Given the description of an element on the screen output the (x, y) to click on. 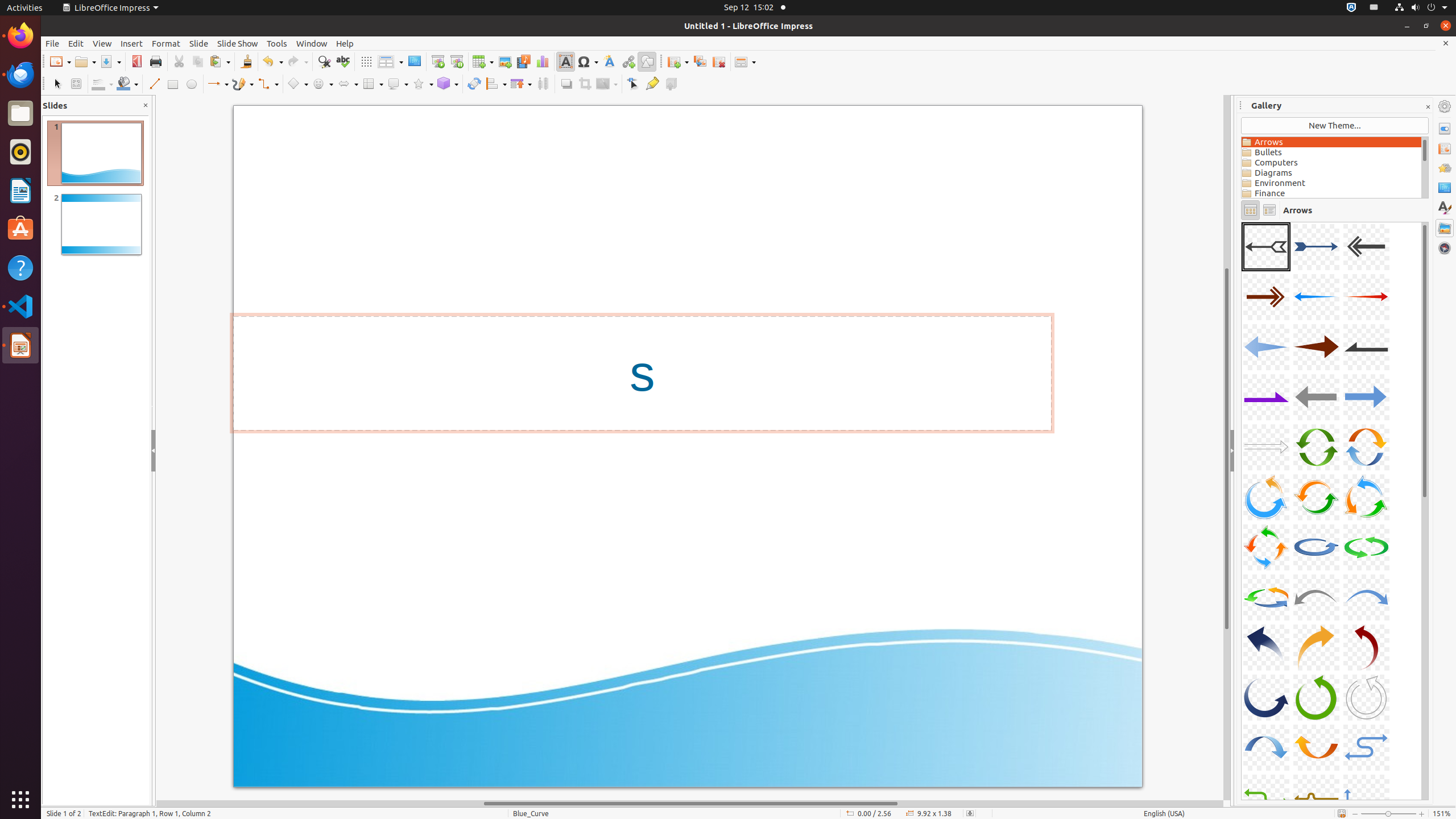
Slide Element type: menu (198, 43)
Styles Element type: radio-button (1444, 208)
Align Element type: push-button (495, 83)
Master Slide Element type: push-button (413, 61)
Curves and Polygons Element type: push-button (242, 83)
